Given the description of an element on the screen output the (x, y) to click on. 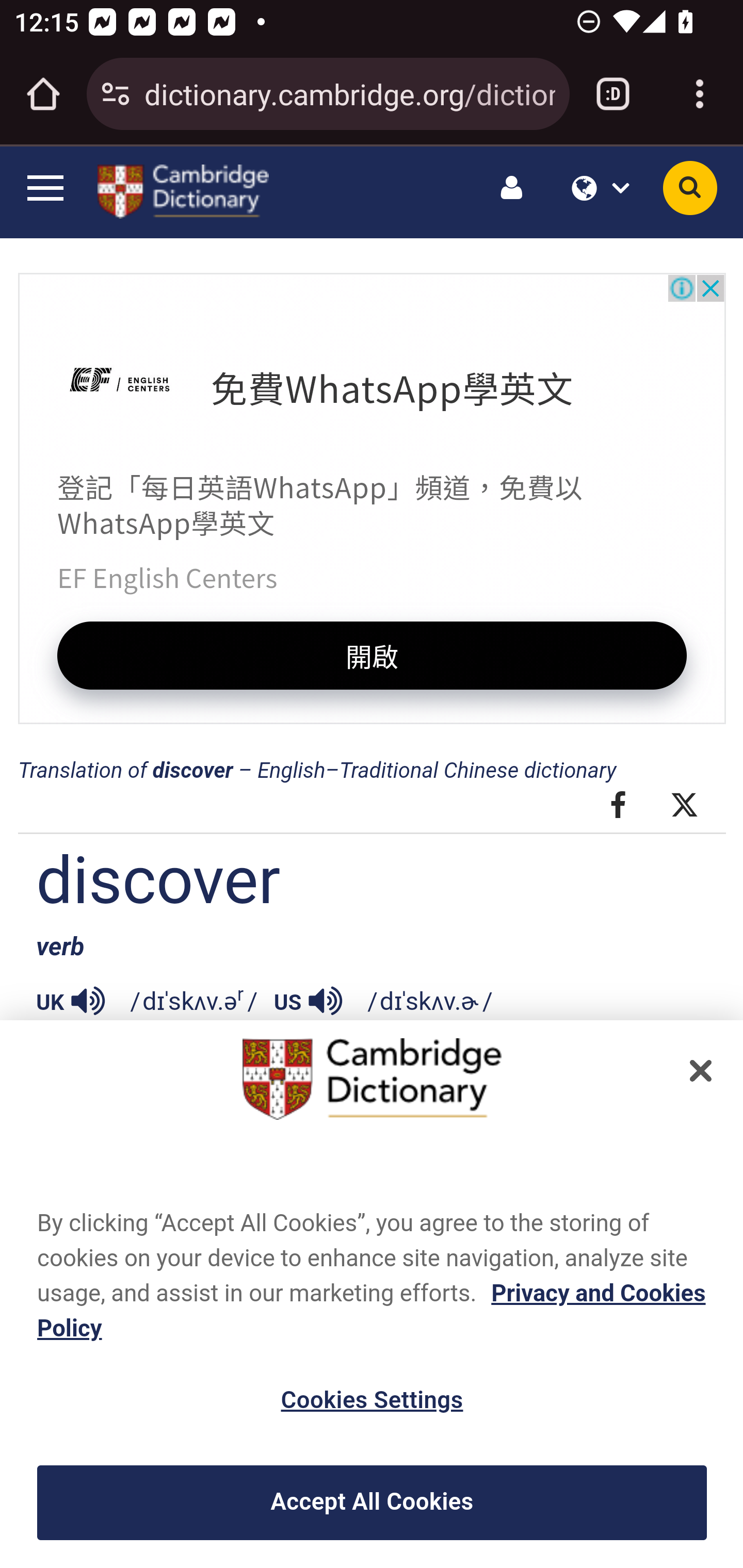
Open the home page (43, 93)
Connection is secure (115, 93)
Switch or close tabs (612, 93)
Customize and control Google Chrome (699, 93)
Close autocomplete (371, 191)
Share on Facebook (618, 805)
Share on X (685, 805)
 (87, 997)
 (324, 997)
